Given the description of an element on the screen output the (x, y) to click on. 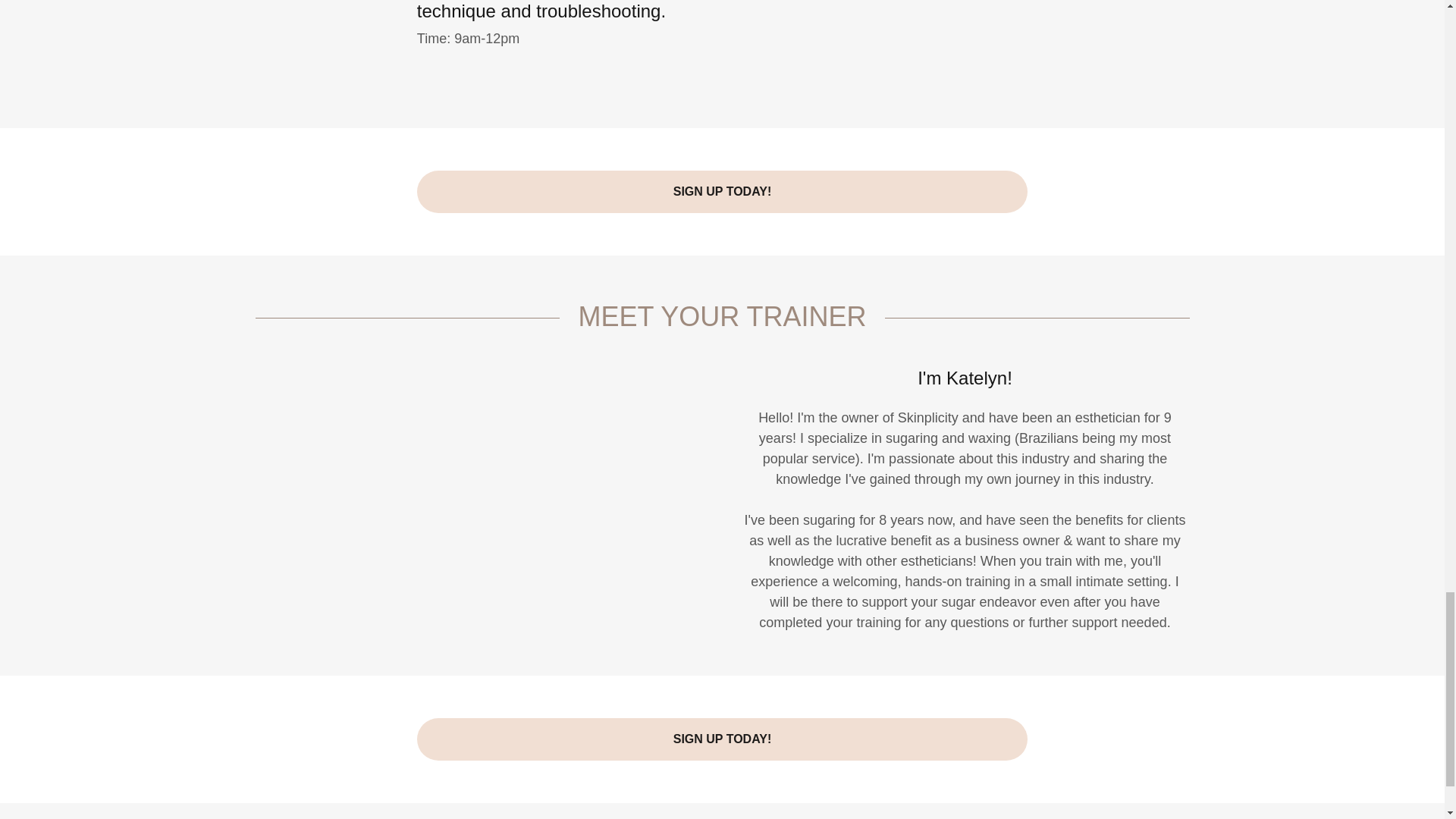
SIGN UP TODAY! (721, 191)
SIGN UP TODAY! (721, 739)
